Given the description of an element on the screen output the (x, y) to click on. 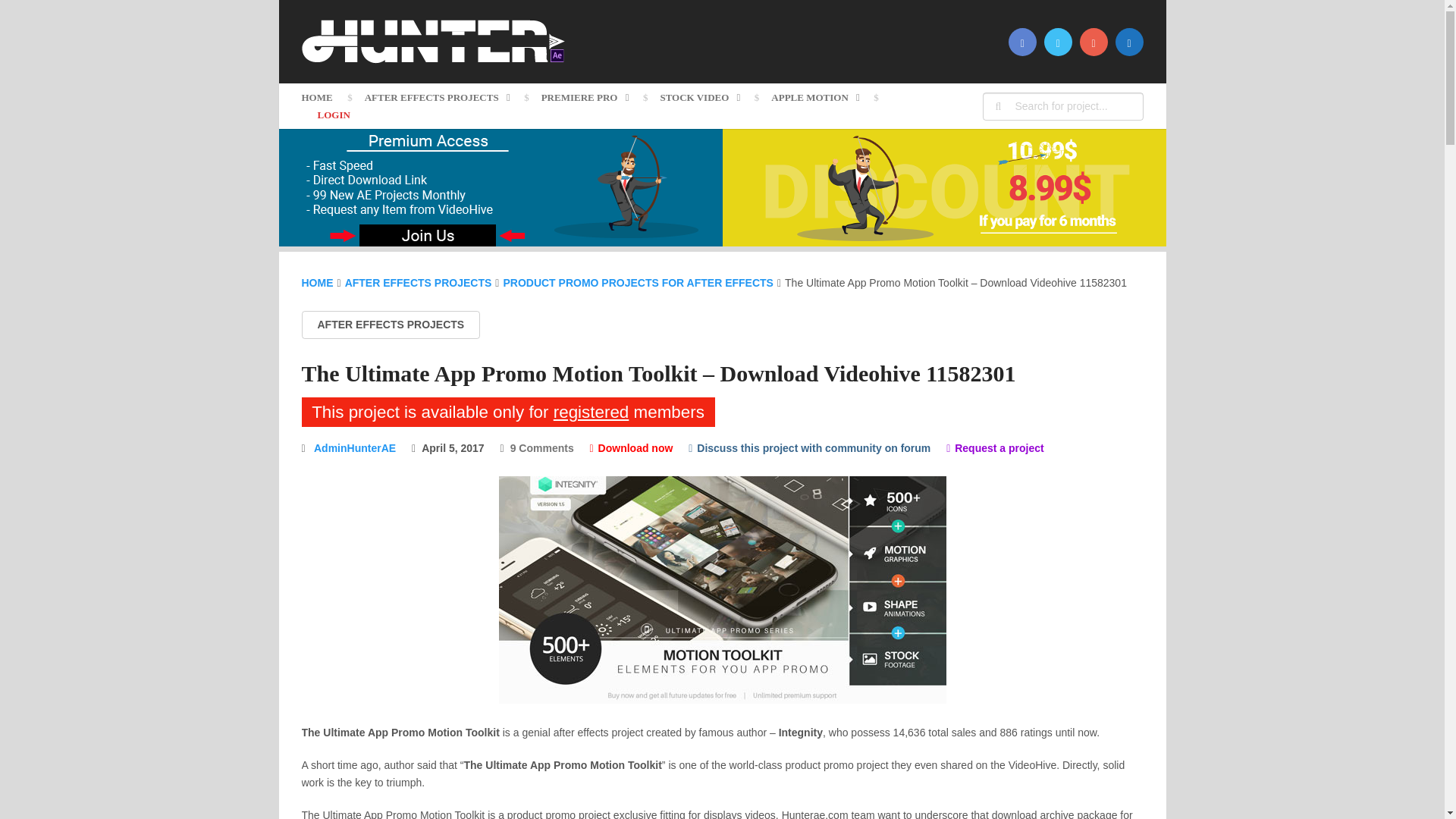
Subscription Page (500, 242)
View all posts in After Effects Projects (390, 325)
Hunterae.com Forum (809, 448)
Posts by AdminHunterAE (355, 448)
HOME (325, 97)
AFTER EFFECTS PROJECTS (437, 97)
STOCK VIDEO (699, 97)
PREMIERE PRO (585, 97)
